Given the description of an element on the screen output the (x, y) to click on. 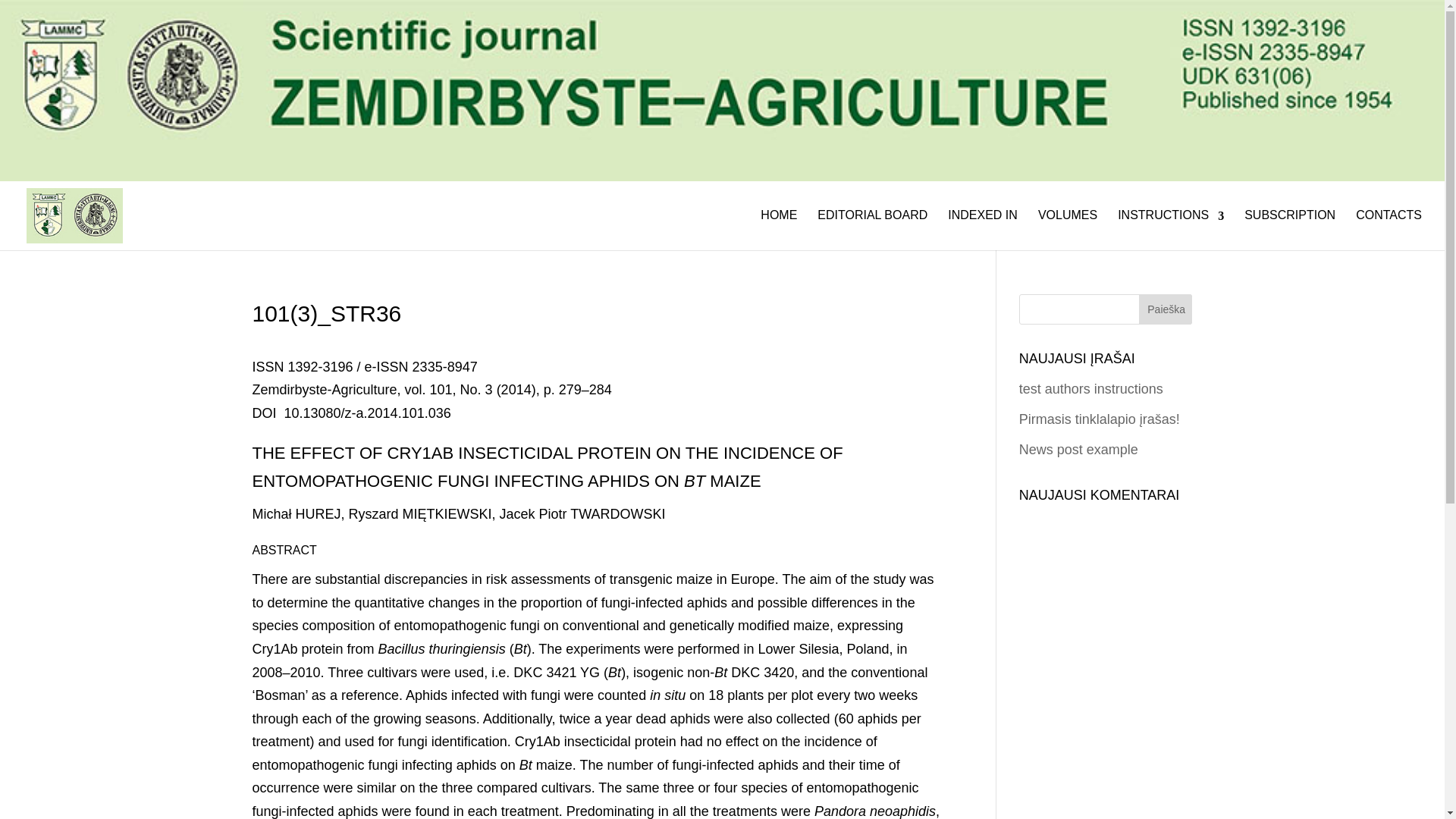
INSTRUCTIONS (1171, 221)
SUBSCRIPTION (1289, 221)
CONTACTS (1388, 221)
EDITORIAL BOARD (871, 221)
test authors instructions (1091, 388)
News post example (1078, 449)
VOLUMES (1067, 221)
INDEXED IN (982, 221)
